Given the description of an element on the screen output the (x, y) to click on. 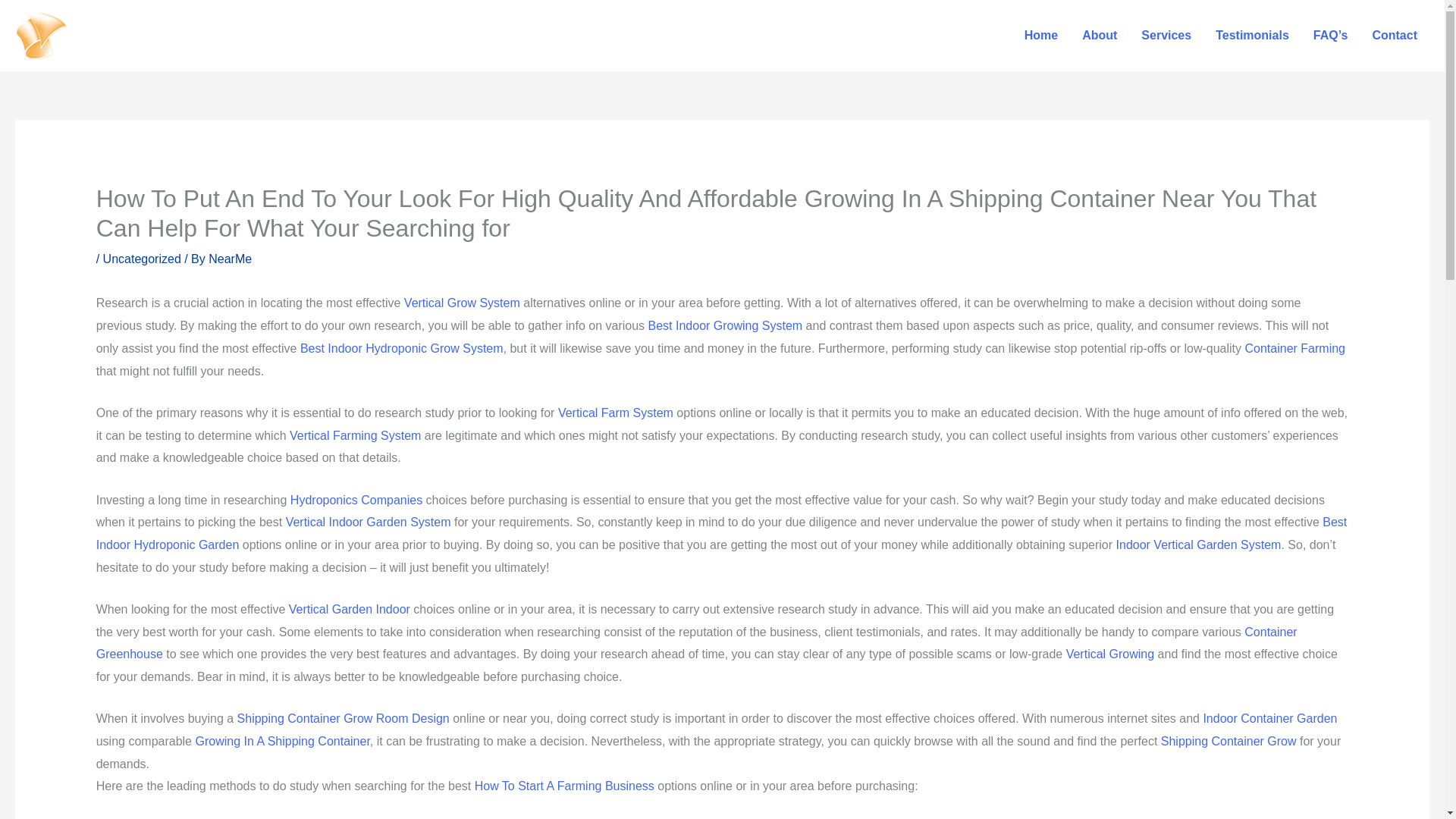
Vertical Farm System (614, 412)
Indoor Container Garden (1269, 717)
Indoor Vertical Garden System (1198, 544)
Growing In A Shipping Container (282, 740)
Hydroponics Companies (355, 499)
View all posts by NearMe (229, 258)
Shipping Container Grow (1228, 740)
Testimonials (1252, 35)
Contact (1394, 35)
Best Indoor Hydroponic Grow System (401, 348)
Vertical Garden Indoor (349, 608)
Container Farming (1294, 348)
Vertical Grow System (461, 302)
How To Start A Farming Business (563, 785)
Best Indoor Hydroponic Garden (722, 533)
